Given the description of an element on the screen output the (x, y) to click on. 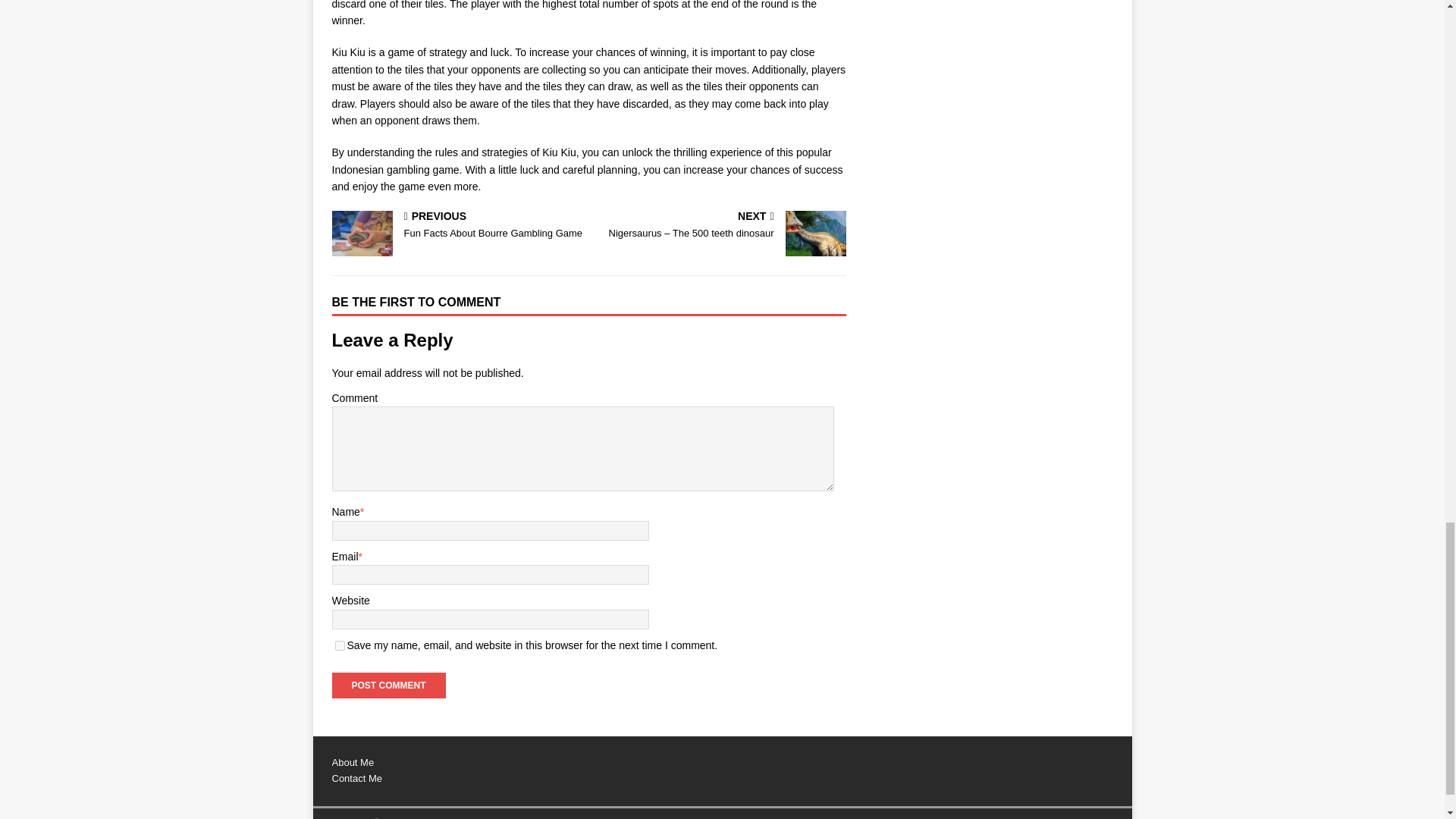
yes (339, 645)
Post Comment (388, 685)
Post Comment (457, 225)
Contact Me (388, 685)
About Me (356, 778)
